Given the description of an element on the screen output the (x, y) to click on. 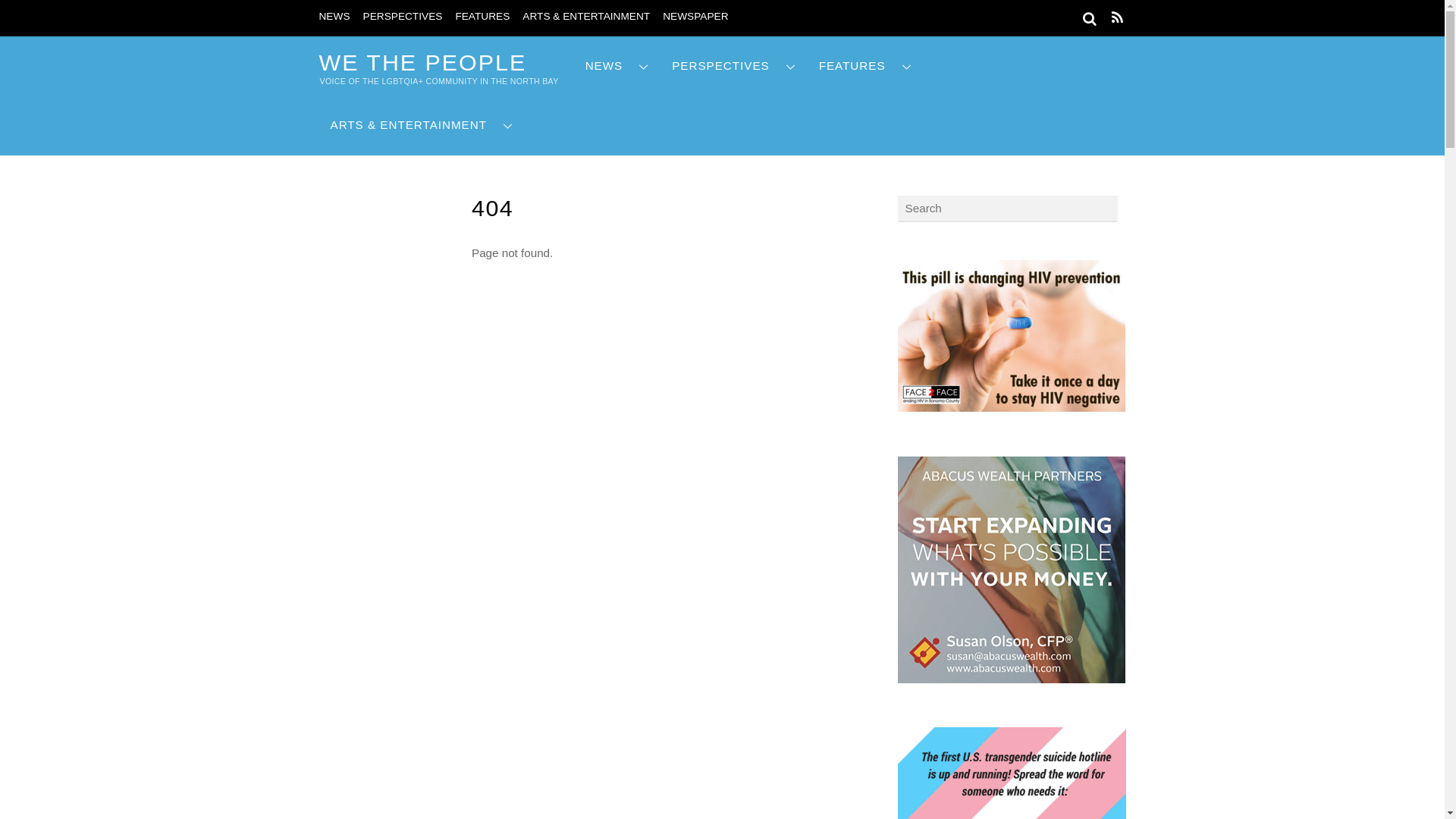
NEWS (333, 16)
WE THE PEOPLE (421, 62)
PERSPECTIVES (402, 16)
NEWSPAPER (695, 16)
We The People (421, 62)
NEWS (617, 66)
FEATURES (481, 16)
